Given the description of an element on the screen output the (x, y) to click on. 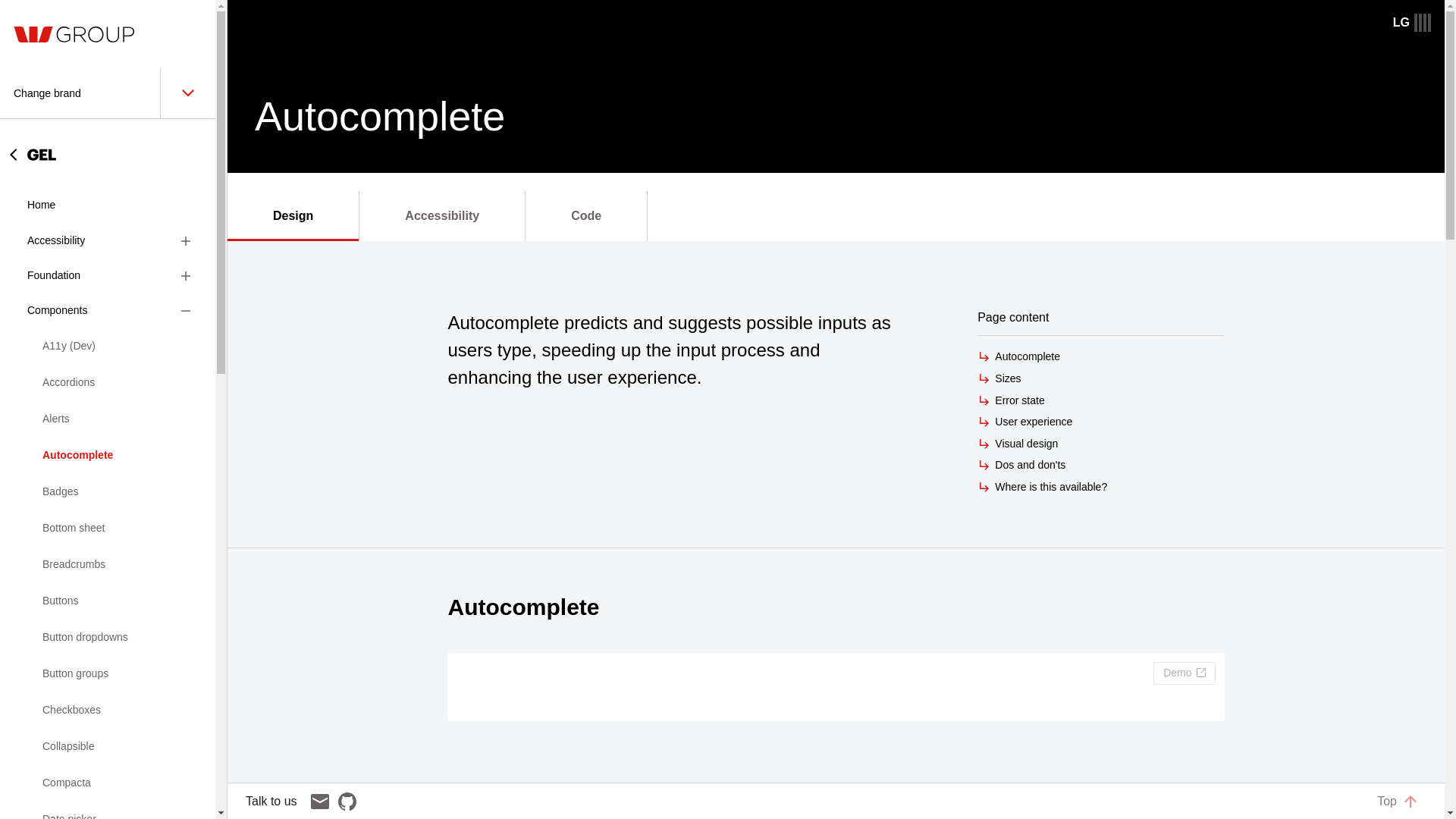
Buttons (107, 601)
Button groups (107, 674)
Accessibility (107, 240)
Home (107, 205)
Compacta (107, 782)
Date picker (107, 810)
Autocomplete (107, 455)
Foundation (107, 275)
Checkboxes (107, 710)
Bottom sheet (107, 528)
